Given the description of an element on the screen output the (x, y) to click on. 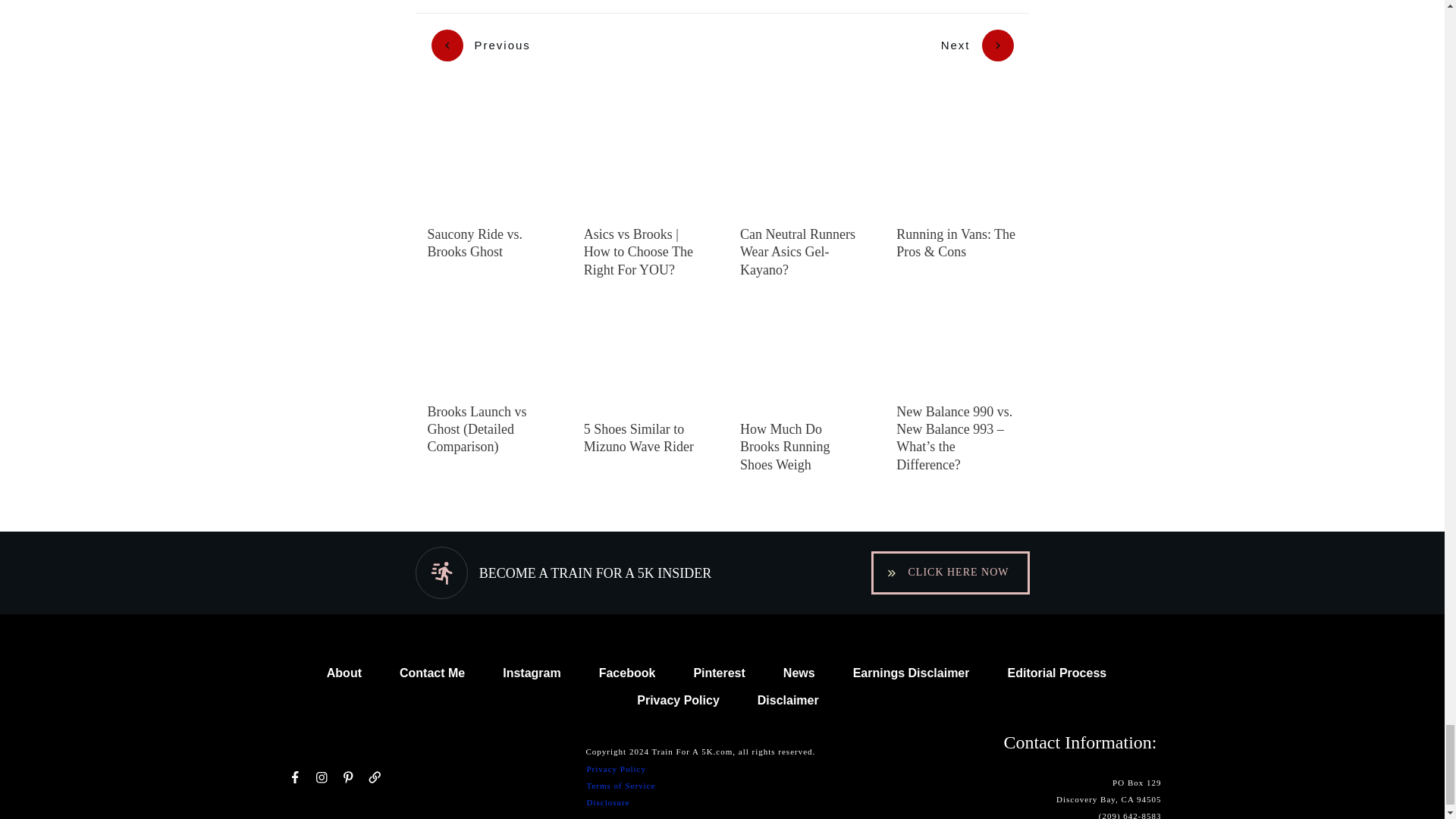
Saucony Ride vs. Brooks Ghost (475, 242)
